Given the description of an element on the screen output the (x, y) to click on. 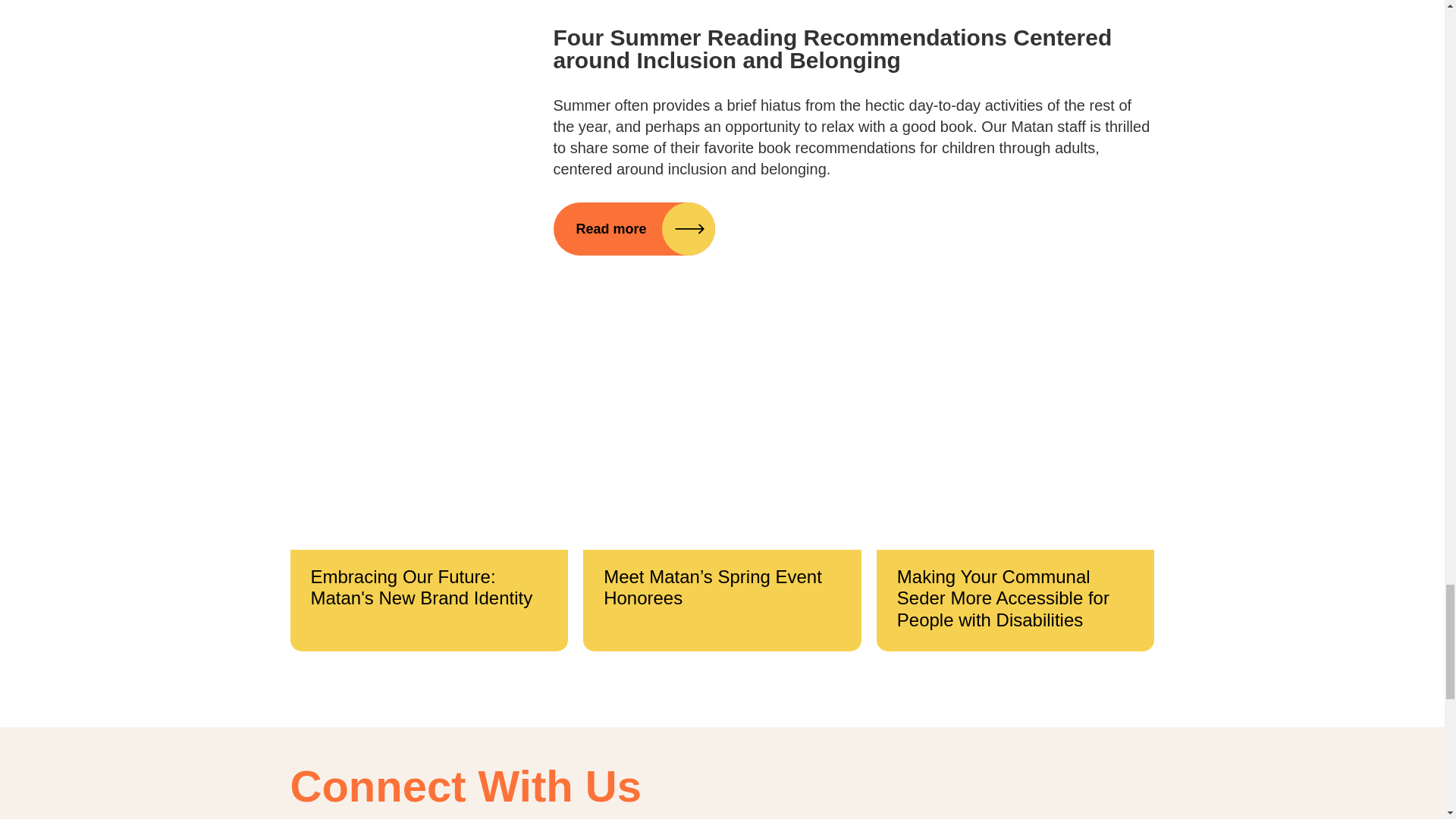
Read more (633, 228)
